Given the description of an element on the screen output the (x, y) to click on. 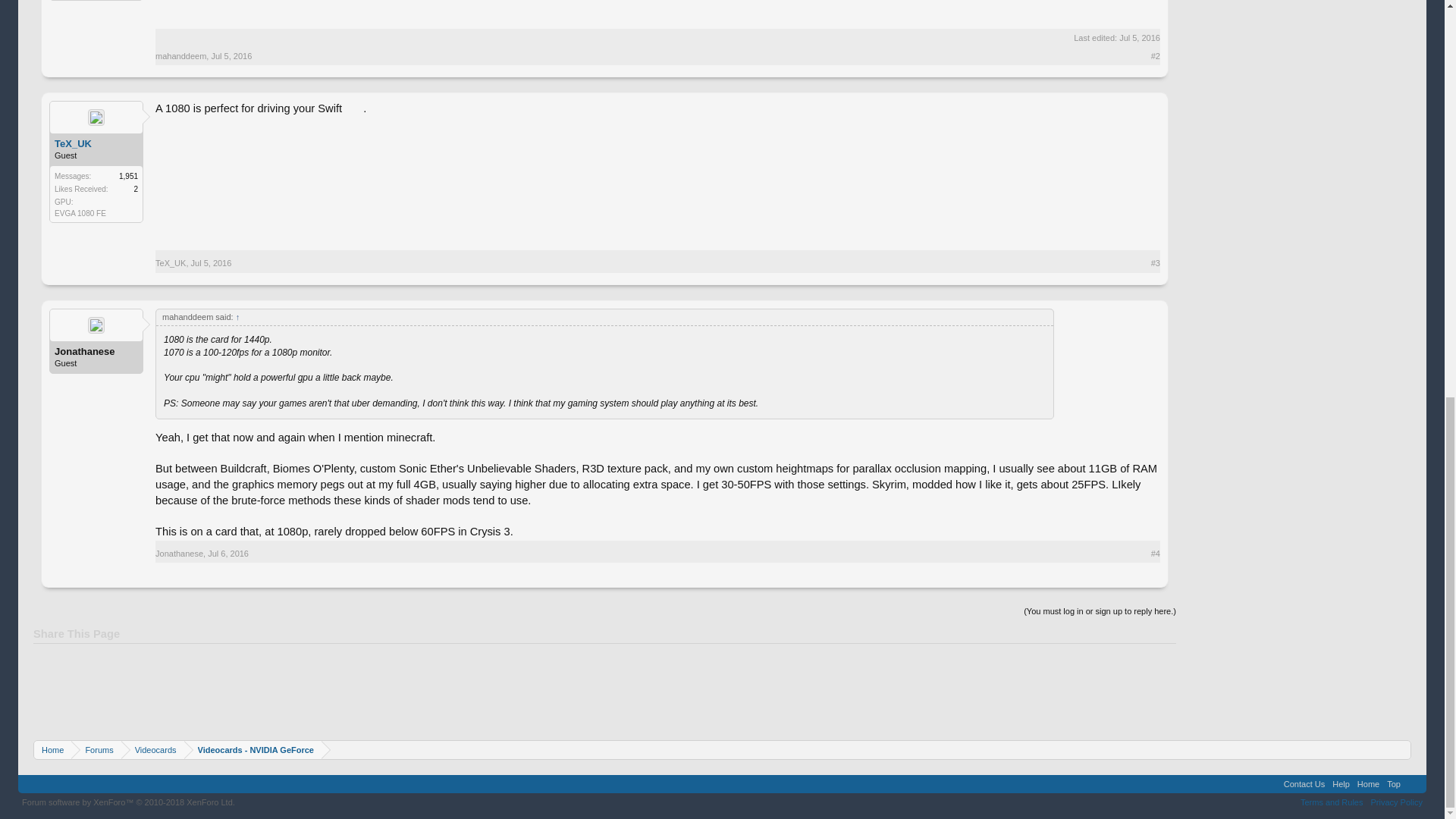
Permalink (210, 262)
Permalink (231, 55)
1,951 (128, 175)
Jul 5, 2016 (210, 262)
Permalink (228, 552)
Jonathanese (96, 351)
Jonathanese (179, 552)
Jul 5, 2016 at 8:15 AM (1139, 37)
mahanddeem (180, 55)
Jul 6, 2016 (228, 552)
